Given the description of an element on the screen output the (x, y) to click on. 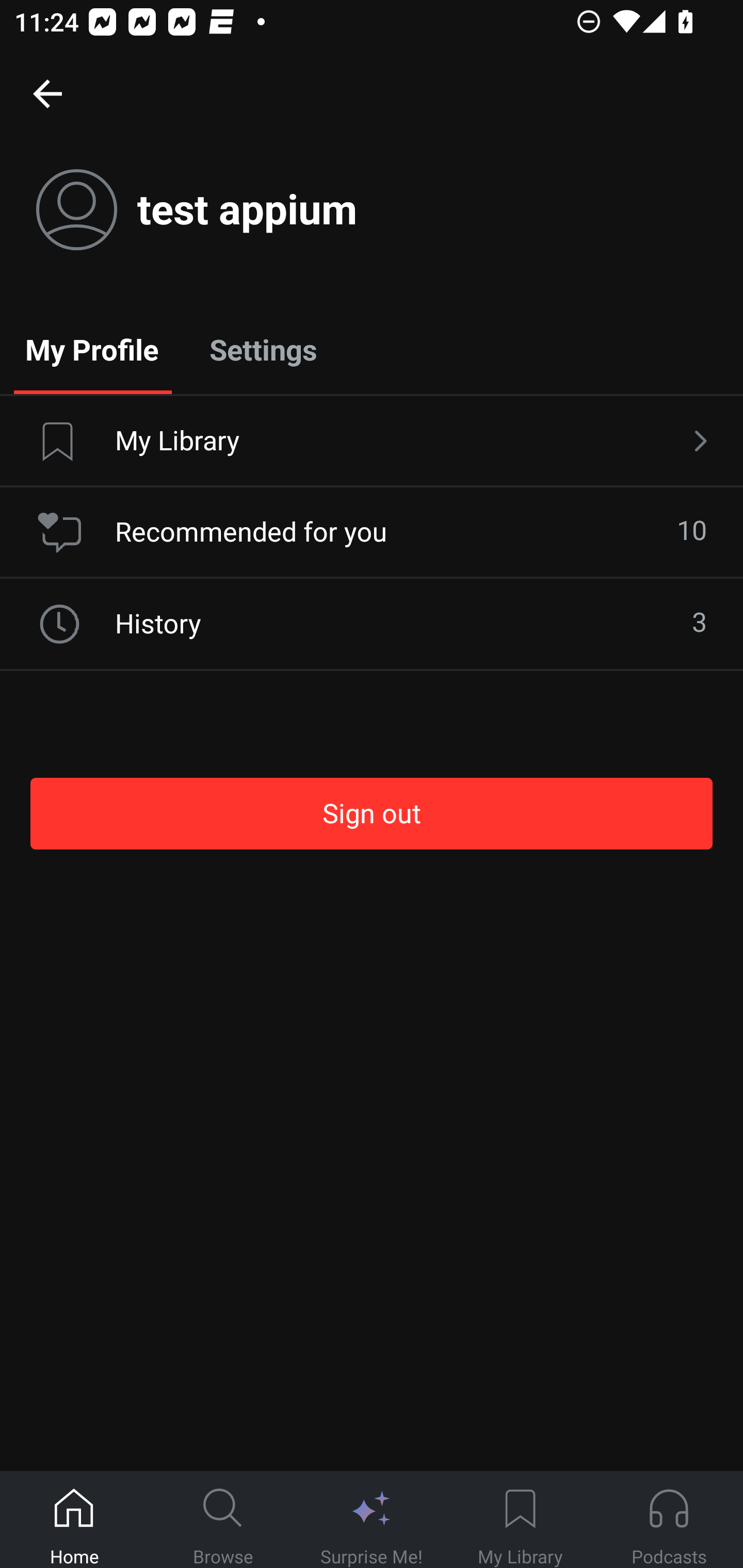
Home, back (47, 92)
My Profile (92, 348)
Settings (263, 348)
My Library (371, 441)
Recommended for you 10 (371, 532)
History 3 (371, 623)
Sign out (371, 813)
Home (74, 1520)
Browse (222, 1520)
Surprise Me! (371, 1520)
My Library (519, 1520)
Podcasts (668, 1520)
